Given the description of an element on the screen output the (x, y) to click on. 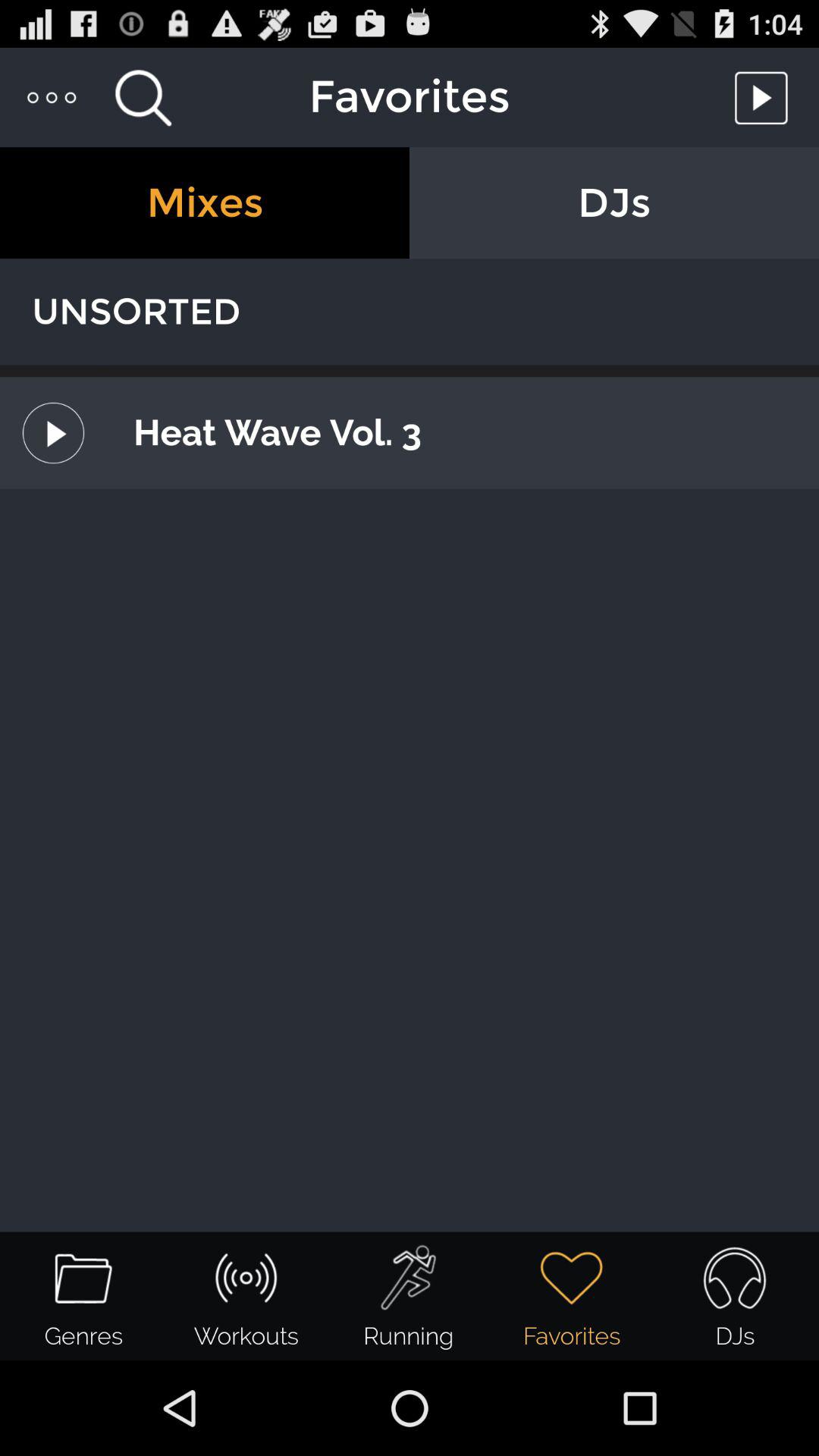
tap the mixes item (204, 202)
